Given the description of an element on the screen output the (x, y) to click on. 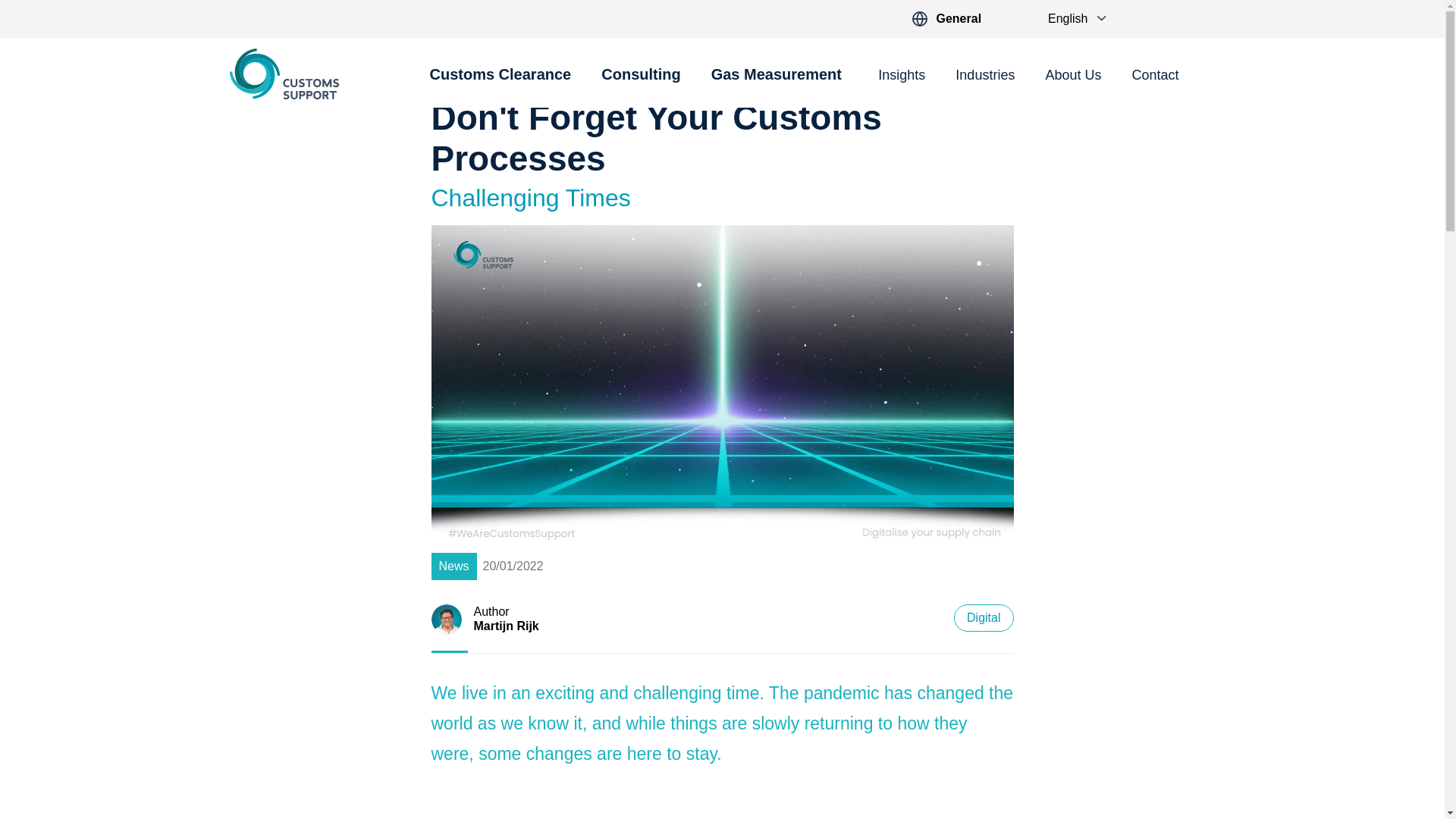
Gas Measurement (776, 83)
Safety services - NL only  (776, 83)
About Us (1072, 75)
Consulting (640, 83)
Customs clearance (499, 83)
Insights (900, 75)
Customs Clearance (499, 83)
Industries (984, 75)
Consulting (640, 83)
